Given the description of an element on the screen output the (x, y) to click on. 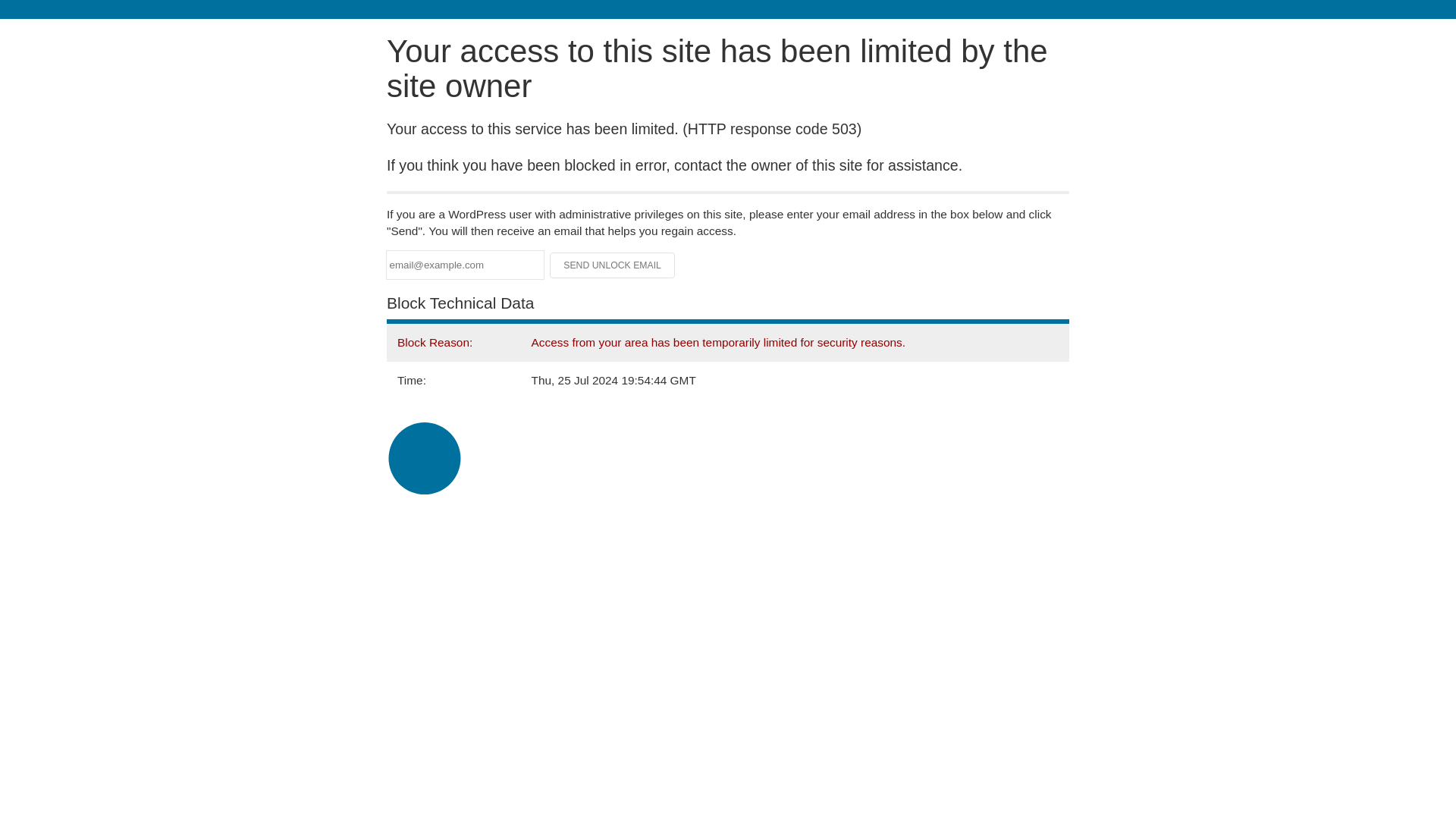
Send Unlock Email (612, 265)
Send Unlock Email (612, 265)
